Given the description of an element on the screen output the (x, y) to click on. 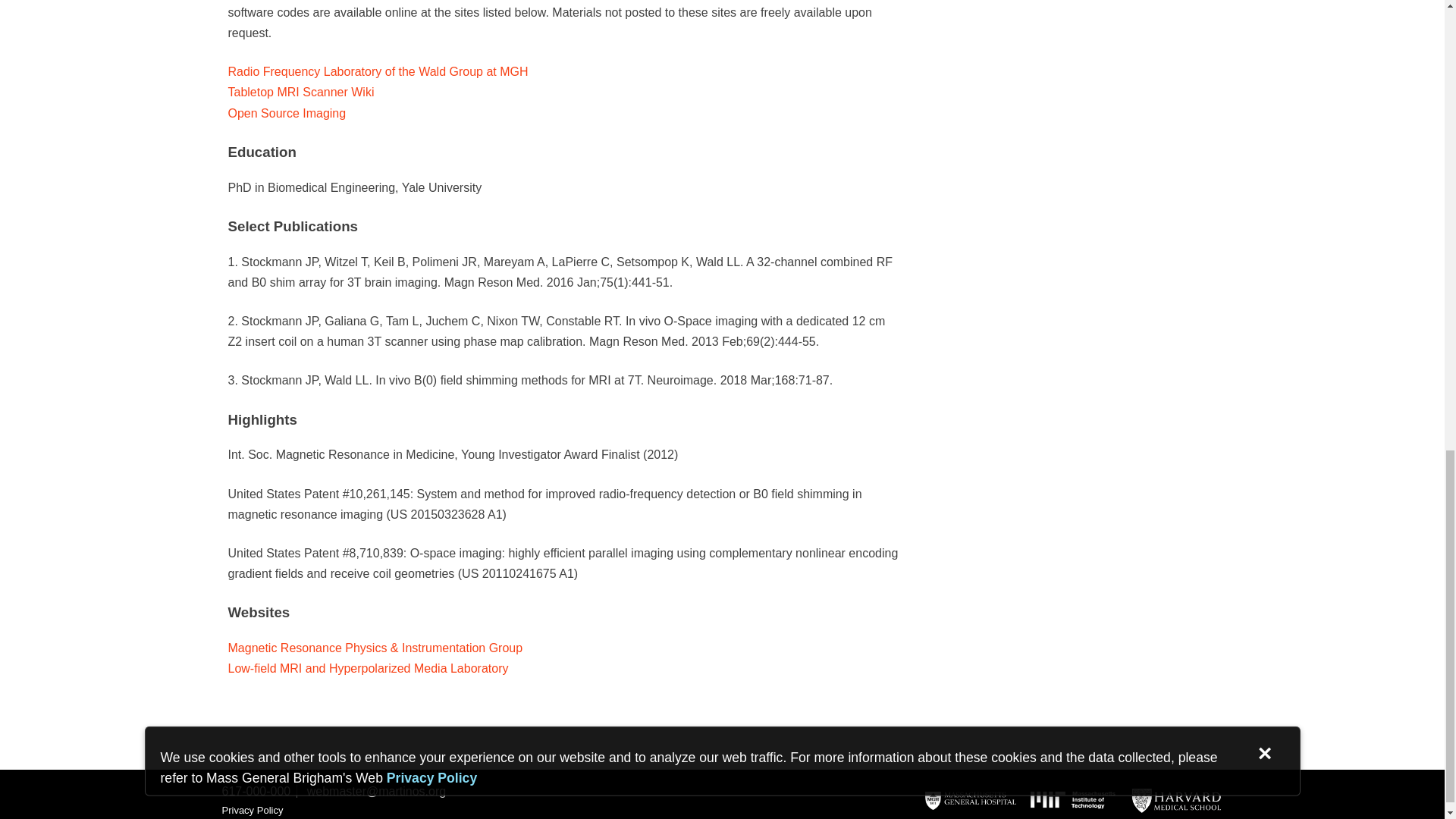
Radio Frequency Laboratory of the Wald Group at MGH (377, 71)
